Given the description of an element on the screen output the (x, y) to click on. 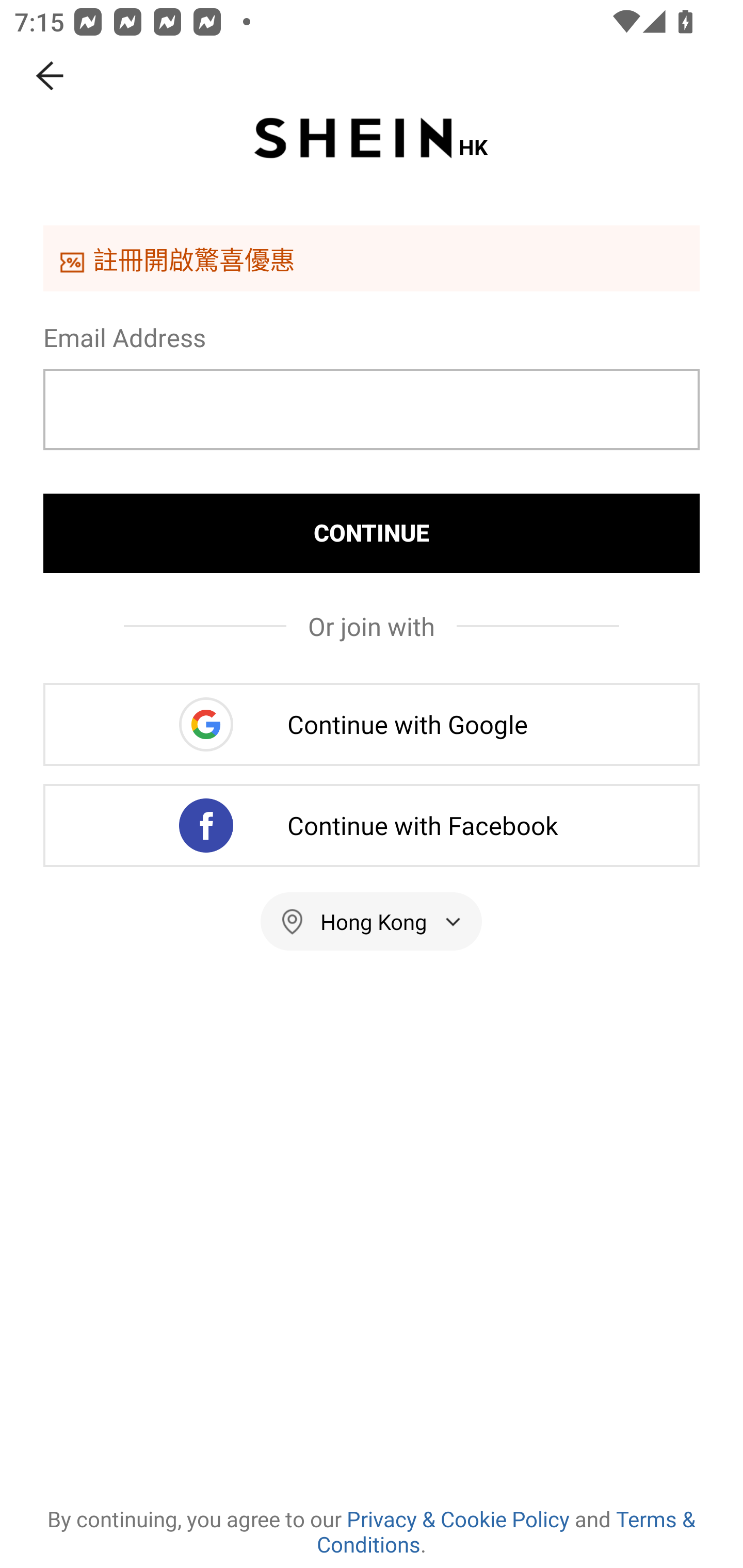
CLOSE (50, 75)
CONTINUE (371, 532)
Continue with Google (371, 724)
Continue with Facebook (371, 825)
Hong Kong (371, 921)
